Given the description of an element on the screen output the (x, y) to click on. 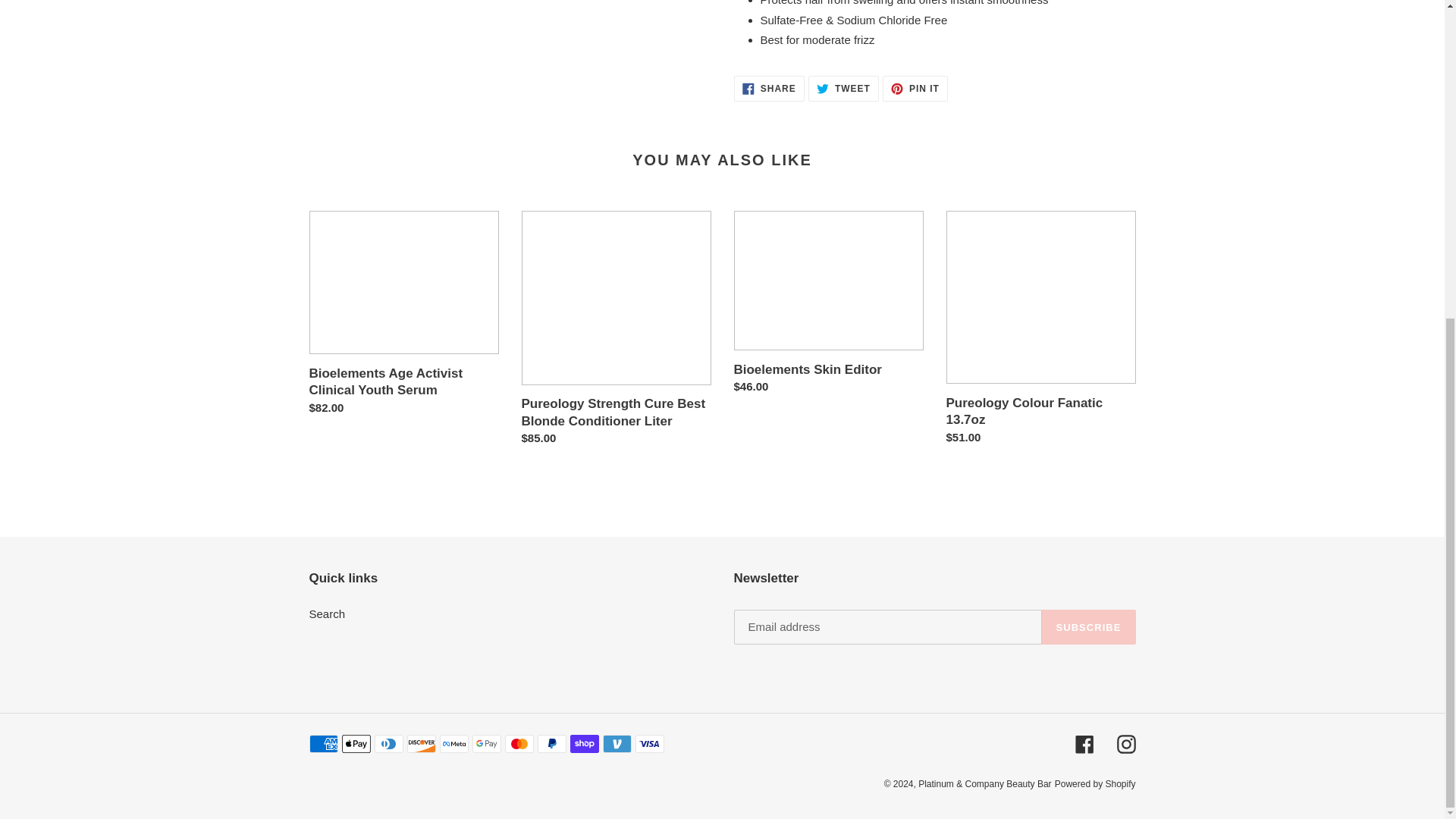
Bioelements Skin Editor (828, 306)
Bioelements Age Activist Clinical Youth Serum (769, 88)
